Given the description of an element on the screen output the (x, y) to click on. 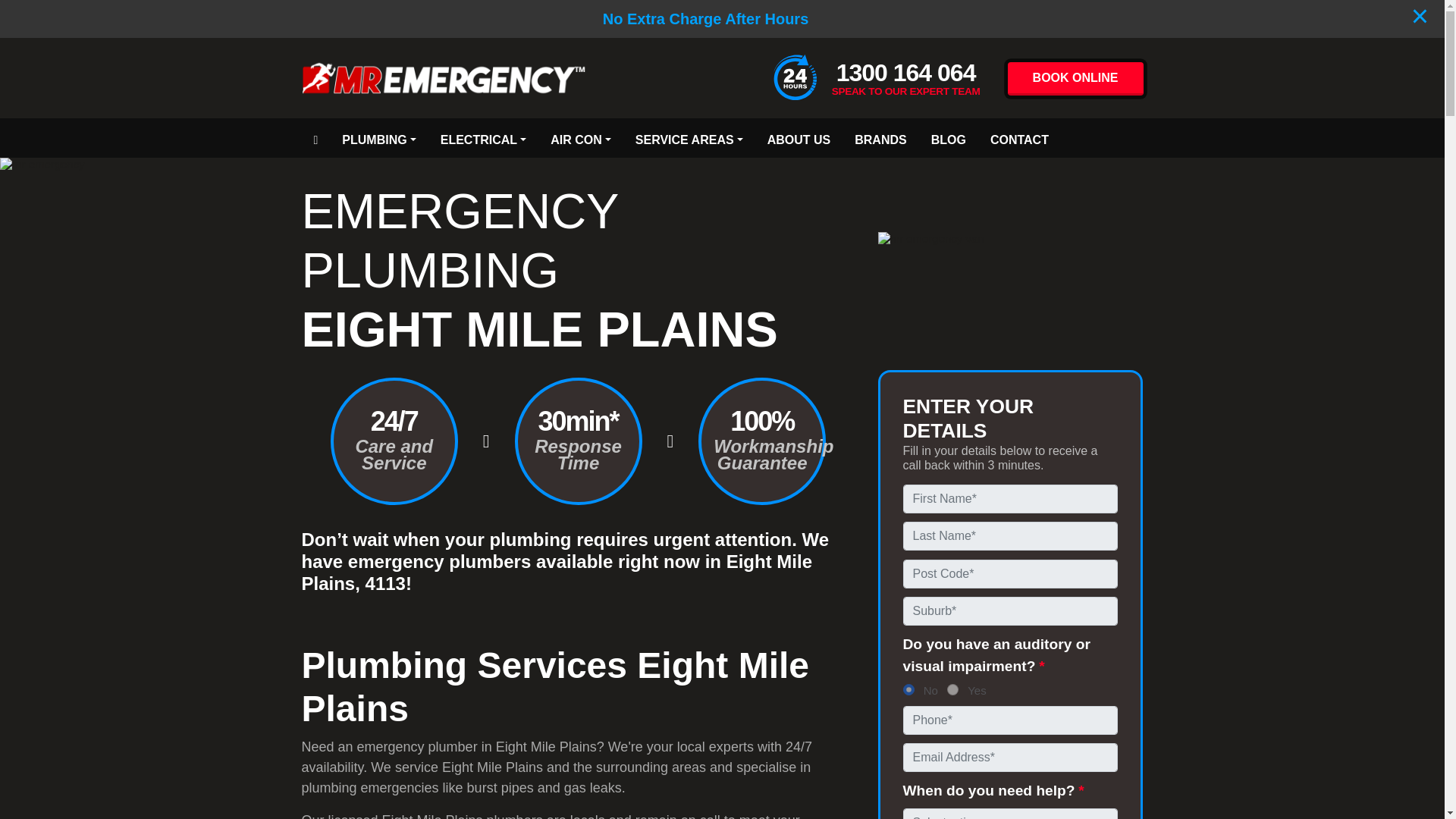
1300 164 064 (905, 72)
AIR CON (580, 138)
ELECTRICAL (483, 138)
Electrical (483, 138)
true (952, 689)
No Extra Charge After Hours (705, 18)
false (908, 689)
HOME (315, 138)
PLUMBING (379, 138)
BOOK ONLINE (1074, 78)
Plumbing (379, 138)
